Given the description of an element on the screen output the (x, y) to click on. 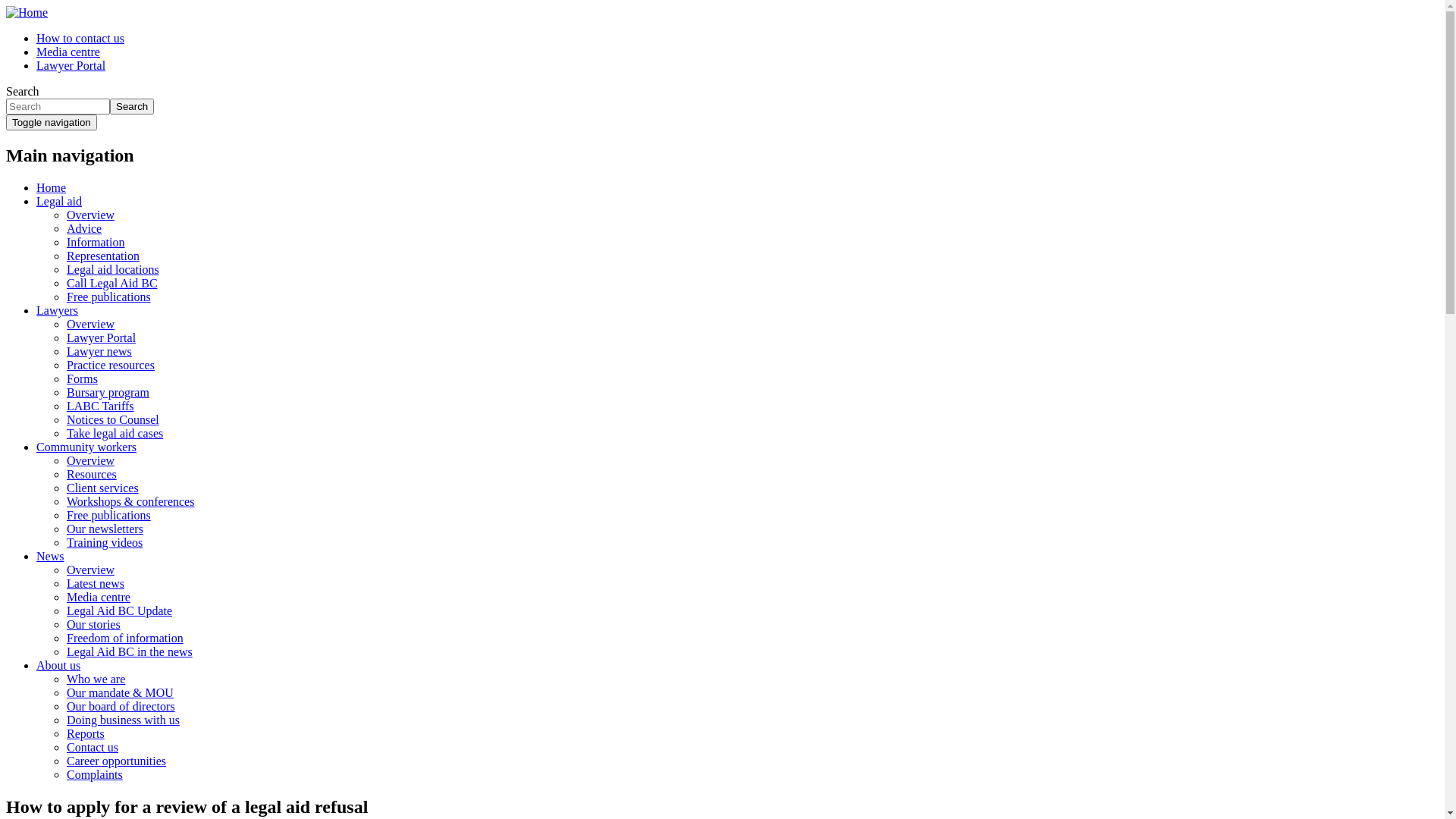
Community workers Element type: text (86, 446)
Complaints Element type: text (94, 774)
About us Element type: text (58, 664)
Practice resources Element type: text (110, 364)
Our board of directors Element type: text (120, 705)
Free publications Element type: text (108, 514)
Legal Aid BC Update Element type: text (119, 610)
Legal Aid BC in the news Element type: text (129, 651)
Our stories Element type: text (93, 624)
Take legal aid cases Element type: text (114, 432)
Home Element type: hover (26, 12)
News Element type: text (49, 555)
Overview Element type: text (90, 569)
Legal aid locations Element type: text (112, 269)
Doing business with us Element type: text (122, 719)
Overview Element type: text (90, 323)
Search Element type: text (131, 106)
Representation Element type: text (102, 255)
Home Element type: text (50, 187)
Latest news Element type: text (95, 583)
Lawyer Portal Element type: text (70, 65)
Contact us Element type: text (92, 746)
Who we are Element type: text (95, 678)
Our mandate & MOU Element type: text (119, 692)
Call Legal Aid BC Element type: text (111, 282)
Information Element type: text (95, 241)
Bursary program Element type: text (107, 391)
Resources Element type: text (91, 473)
Skip to main content Element type: text (6, 6)
Overview Element type: text (90, 214)
Training videos Element type: text (104, 542)
Career opportunities Element type: text (116, 760)
LABC Tariffs Element type: text (100, 405)
Media centre Element type: text (98, 596)
Freedom of information Element type: text (124, 637)
Media centre Element type: text (68, 51)
Legal aid Element type: text (58, 200)
How to contact us Element type: text (80, 37)
Client services Element type: text (102, 487)
Toggle navigation Element type: text (51, 122)
Overview Element type: text (90, 460)
Free publications Element type: text (108, 296)
Notices to Counsel Element type: text (112, 419)
Lawyers Element type: text (57, 310)
Our newsletters Element type: text (104, 528)
Lawyer Portal Element type: text (100, 337)
Advice Element type: text (83, 228)
Workshops & conferences Element type: text (130, 501)
Lawyer news Element type: text (98, 351)
Forms Element type: text (81, 378)
Reports Element type: text (85, 733)
